Given the description of an element on the screen output the (x, y) to click on. 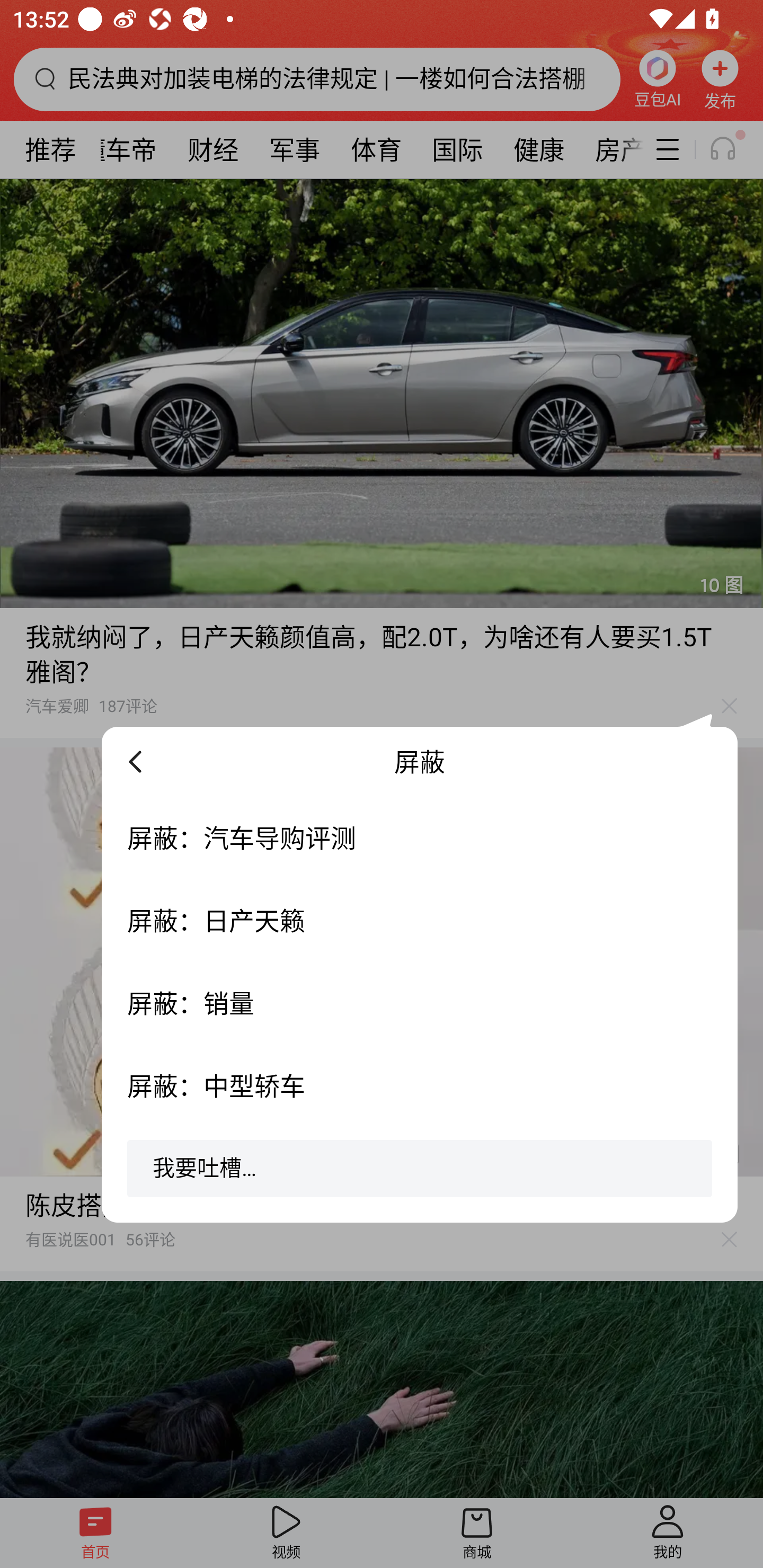
屏蔽：汽车导购评测 (419, 837)
屏蔽：日产天籁 (419, 920)
屏蔽：销量 (419, 1003)
屏蔽：中型轿车 (419, 1085)
我要吐槽… (419, 1175)
